Given the description of an element on the screen output the (x, y) to click on. 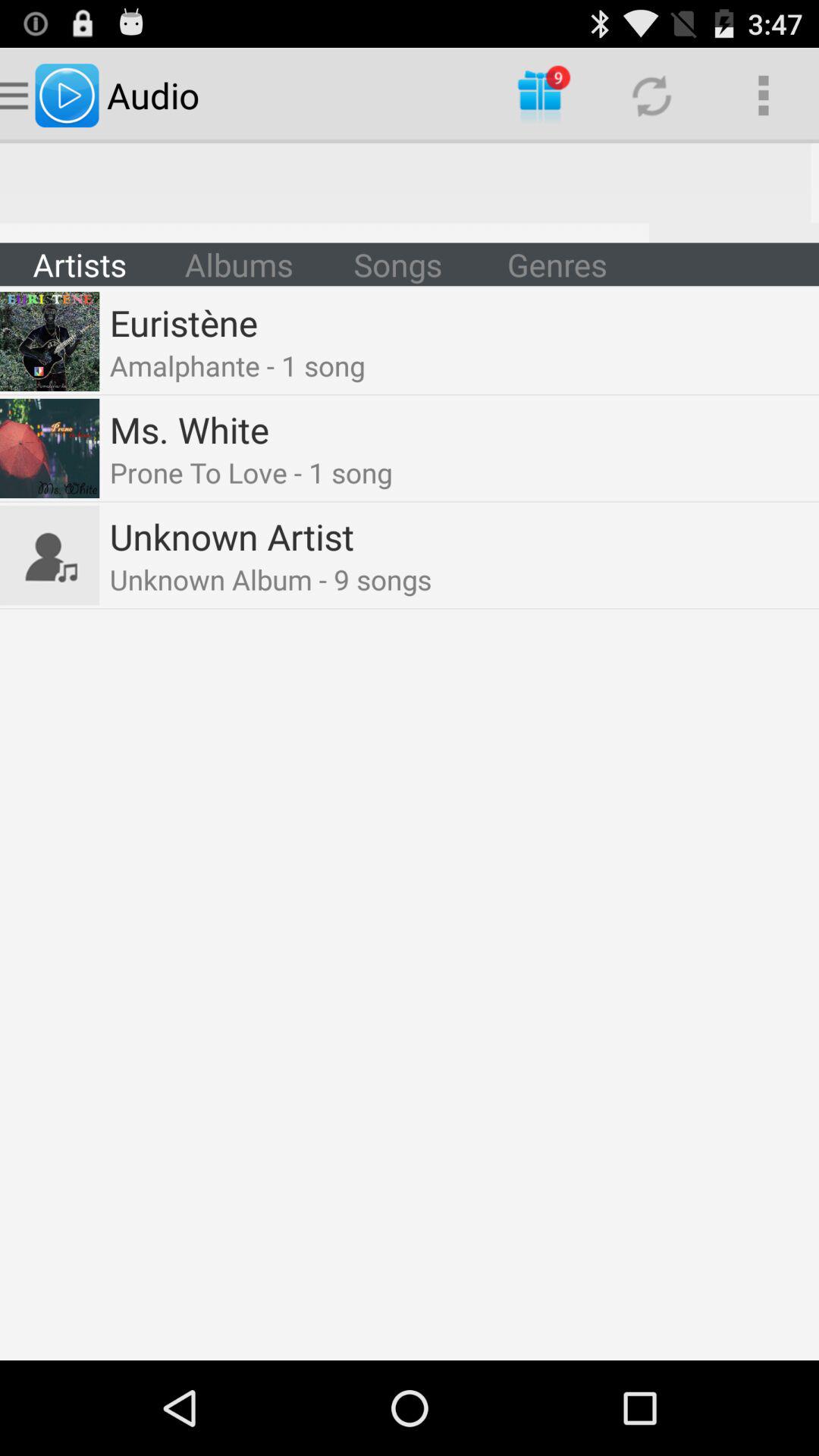
press the app above the artists item (409, 192)
